Given the description of an element on the screen output the (x, y) to click on. 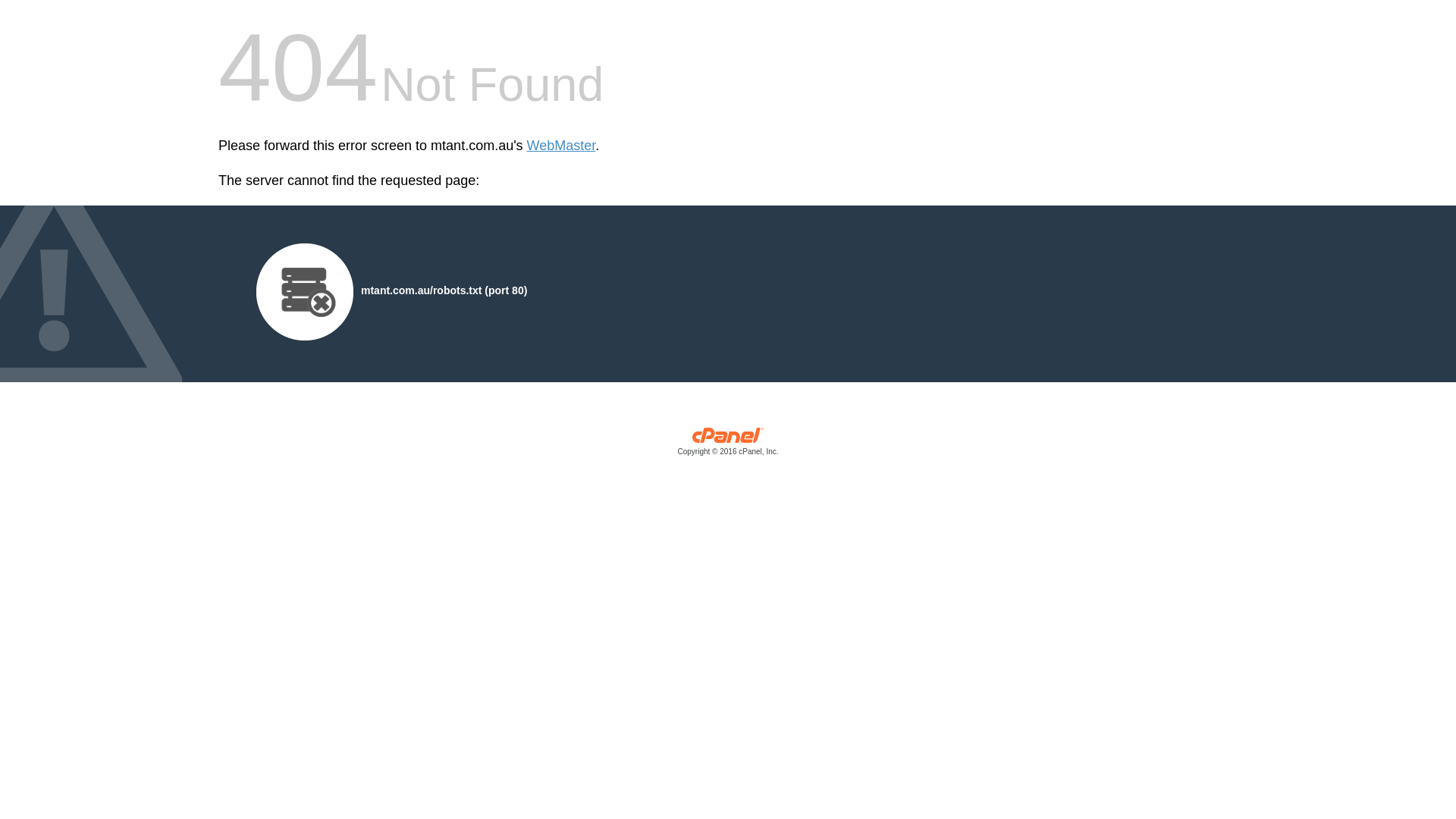
WebMaster Element type: text (561, 145)
